Given the description of an element on the screen output the (x, y) to click on. 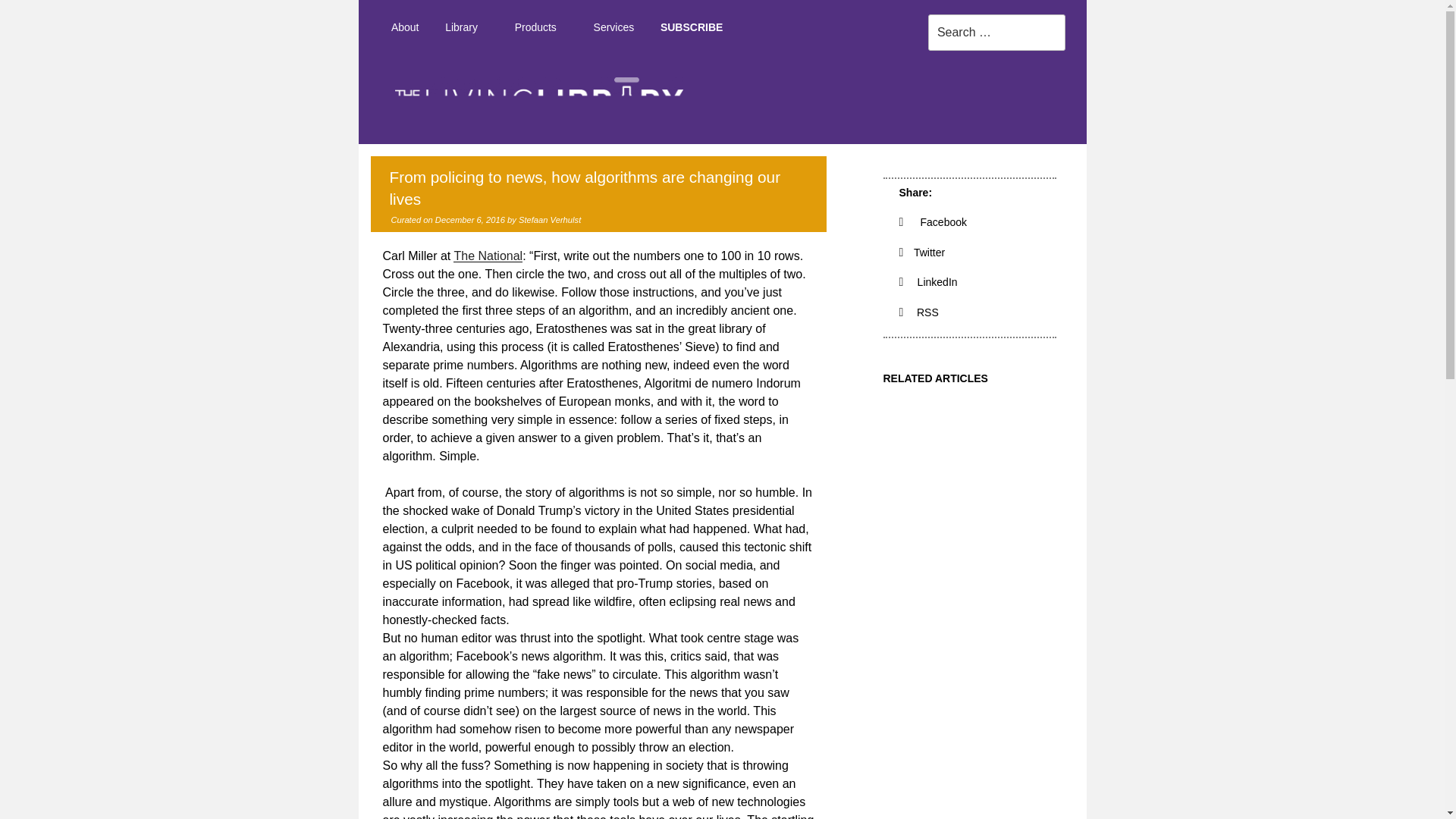
SUBSCRIBE (692, 27)
RSS (919, 312)
December 6, 2016 (470, 219)
LinkedIn (928, 282)
Services (612, 27)
  Facebook (933, 222)
About (403, 27)
The National (487, 255)
Products (540, 27)
Twitter (921, 252)
Library (466, 27)
THE LIVING LIBRARY (1117, 158)
Stefaan Verhulst (549, 219)
